Given the description of an element on the screen output the (x, y) to click on. 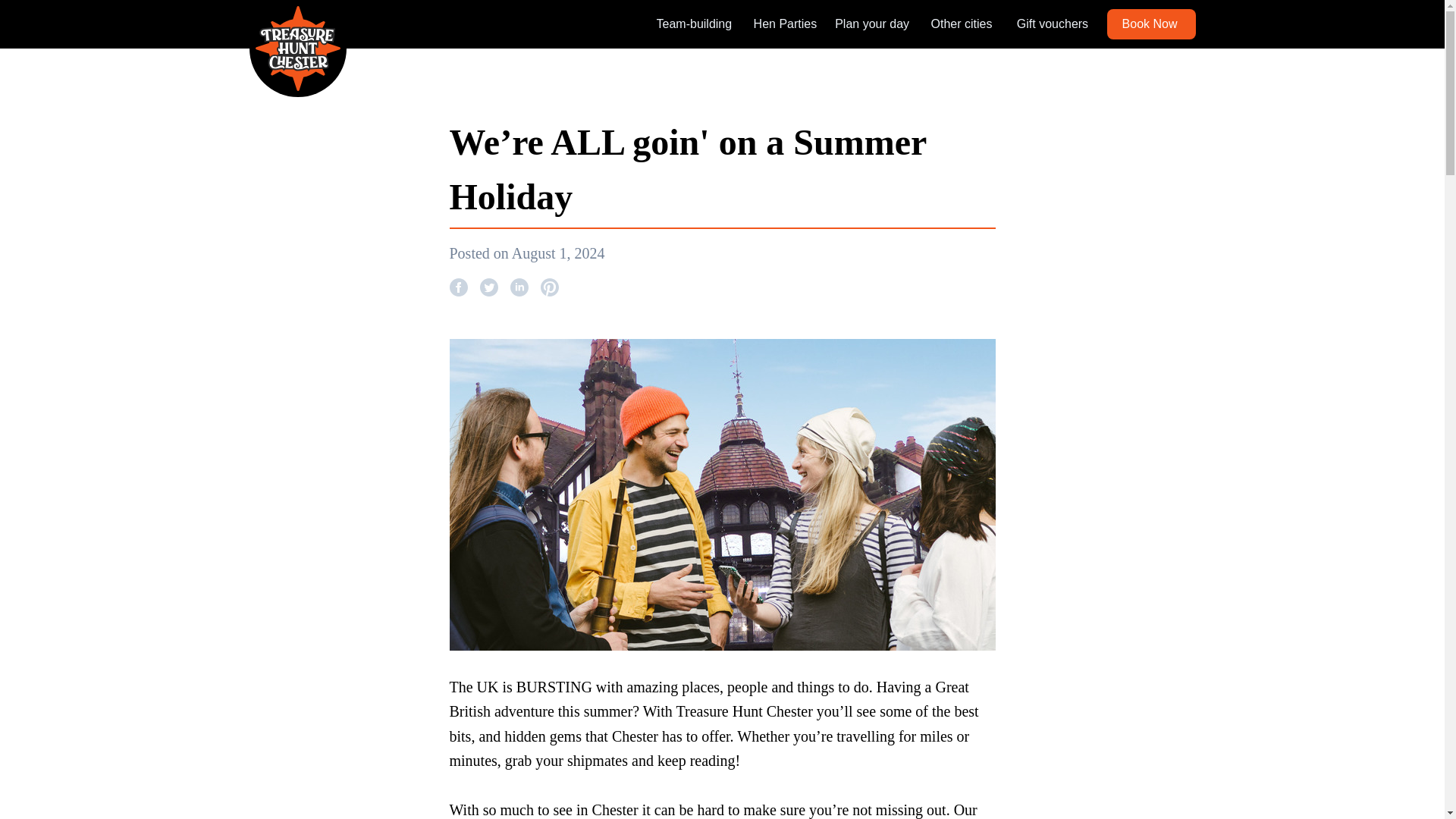
Team-building (694, 24)
Other cities (960, 24)
Plan your day (871, 24)
Book Now (1150, 24)
Hen Parties (785, 24)
Gift vouchers (1051, 24)
